Given the description of an element on the screen output the (x, y) to click on. 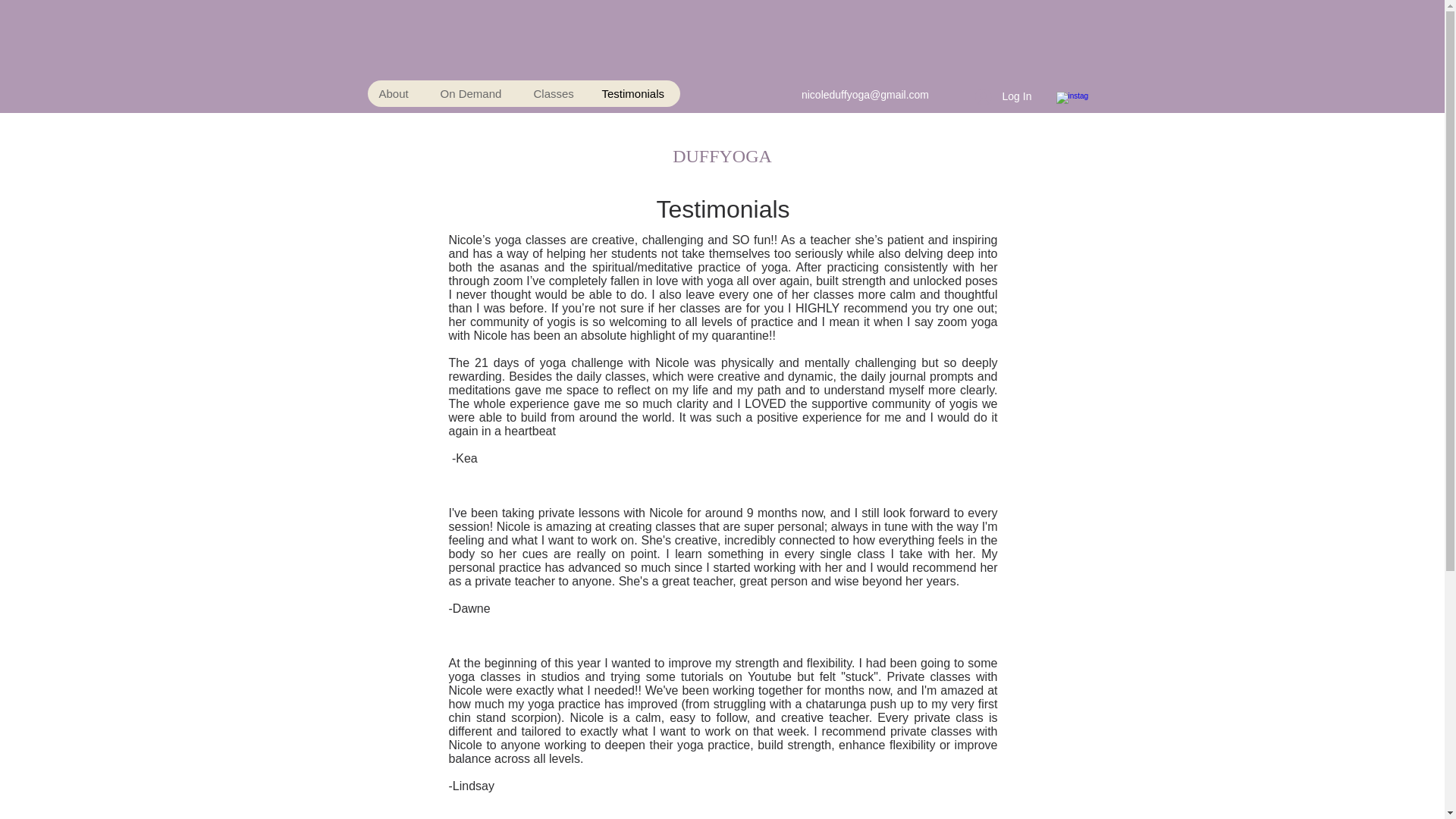
Log In (986, 96)
About (397, 93)
Testimonials (634, 93)
On Demand (474, 93)
Classes (555, 93)
